Given the description of an element on the screen output the (x, y) to click on. 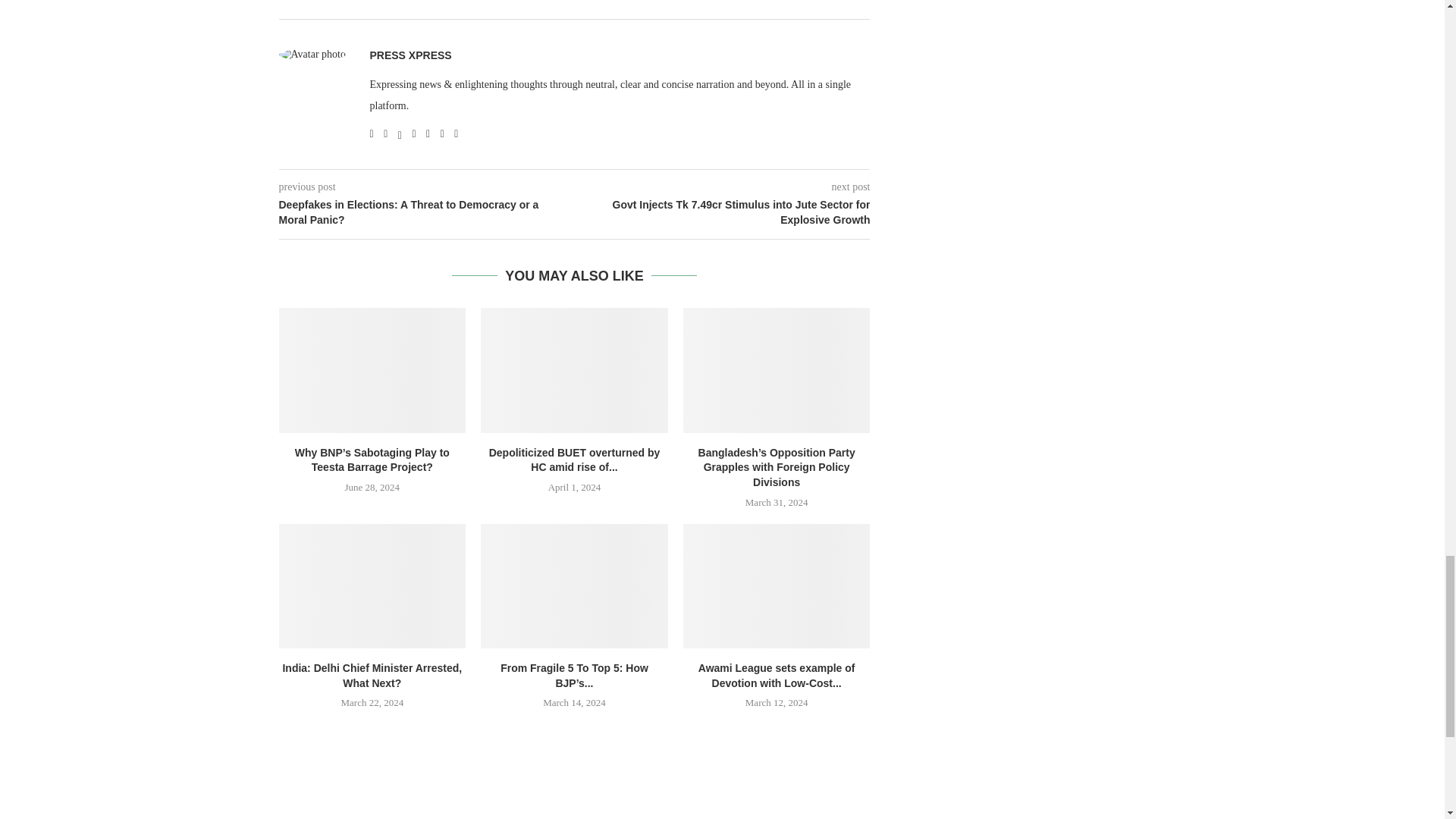
Author Press Xpress (410, 55)
India: Delhi Chief Minister Arrested, What Next? (372, 586)
